Given the description of an element on the screen output the (x, y) to click on. 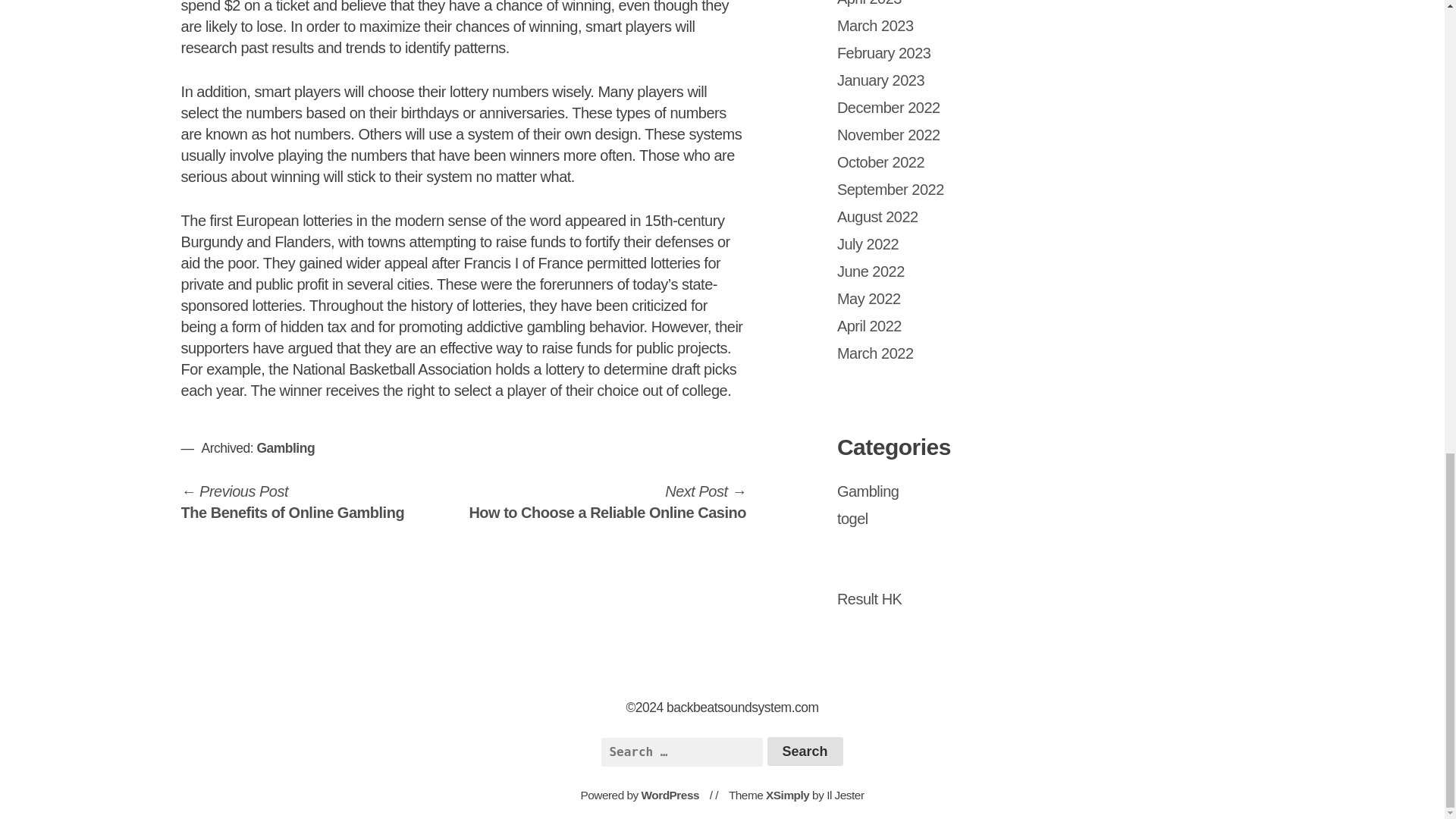
December 2022 (606, 501)
May 2022 (888, 107)
June 2022 (869, 298)
November 2022 (870, 271)
Gambling (888, 134)
Search (285, 447)
September 2022 (805, 751)
March 2023 (890, 189)
October 2022 (875, 25)
Search (880, 161)
August 2022 (805, 751)
April 2023 (877, 216)
February 2023 (869, 3)
